Given the description of an element on the screen output the (x, y) to click on. 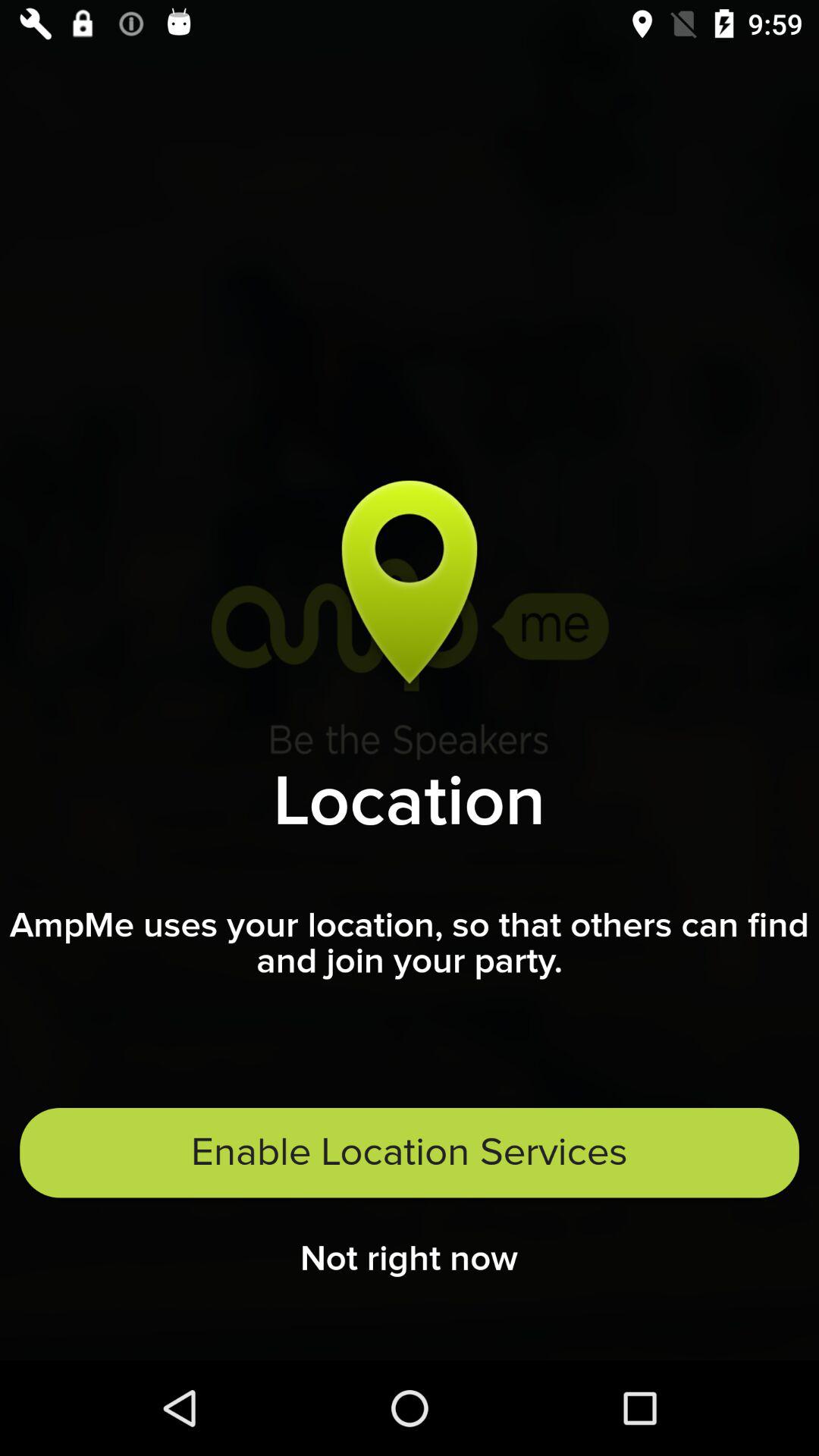
turn off not right now icon (408, 1263)
